Given the description of an element on the screen output the (x, y) to click on. 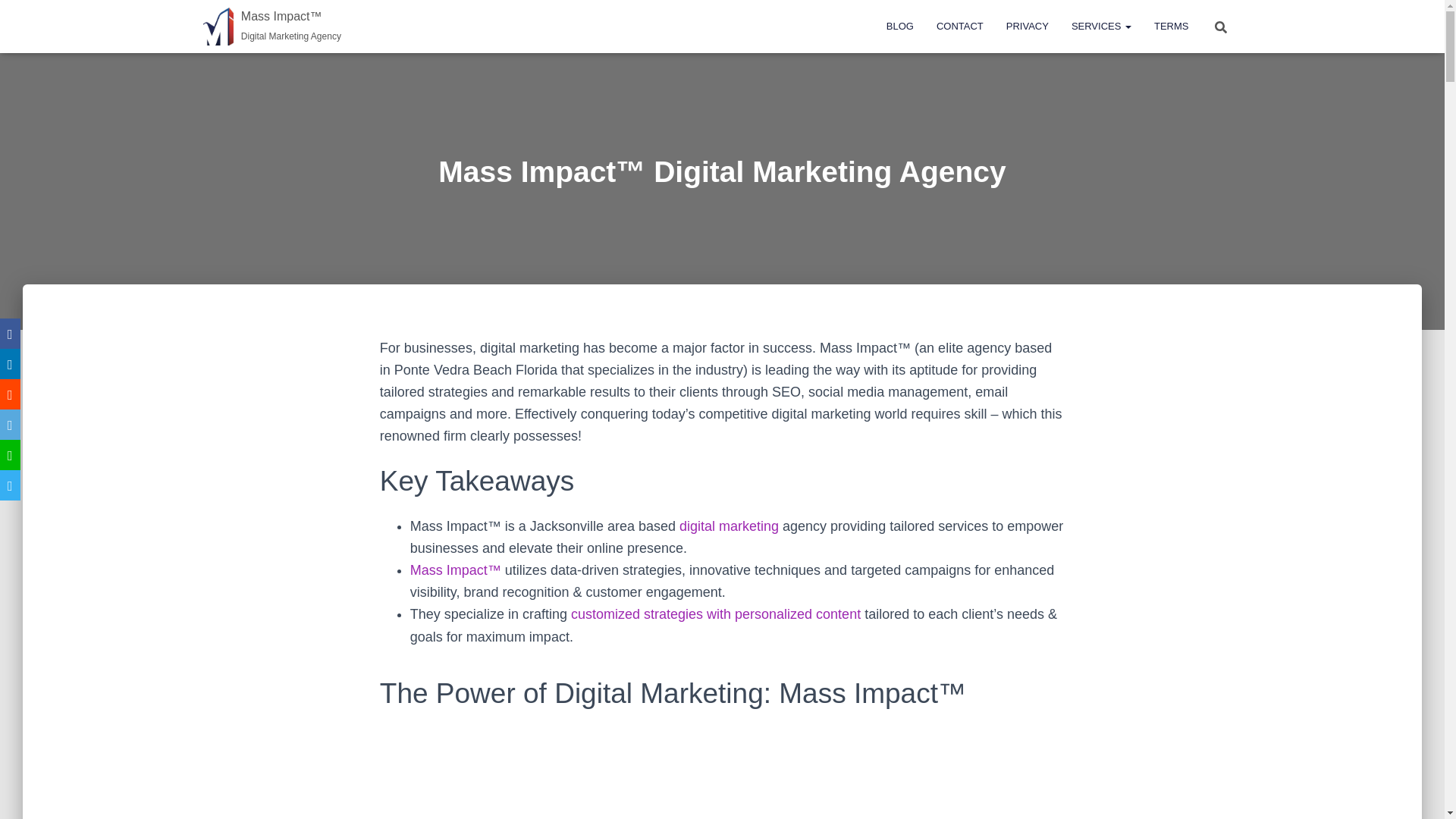
CONTACT (959, 26)
BLOG (899, 26)
PRIVACY (1026, 26)
Search (16, 16)
PRIVACY (1026, 26)
TERMS (1170, 26)
BLOG (899, 26)
SERVICES (1100, 26)
TERMS (1170, 26)
CONTACT (959, 26)
customized strategies with personalized content (715, 613)
SERVICES (1100, 26)
digital marketing (728, 525)
